Given the description of an element on the screen output the (x, y) to click on. 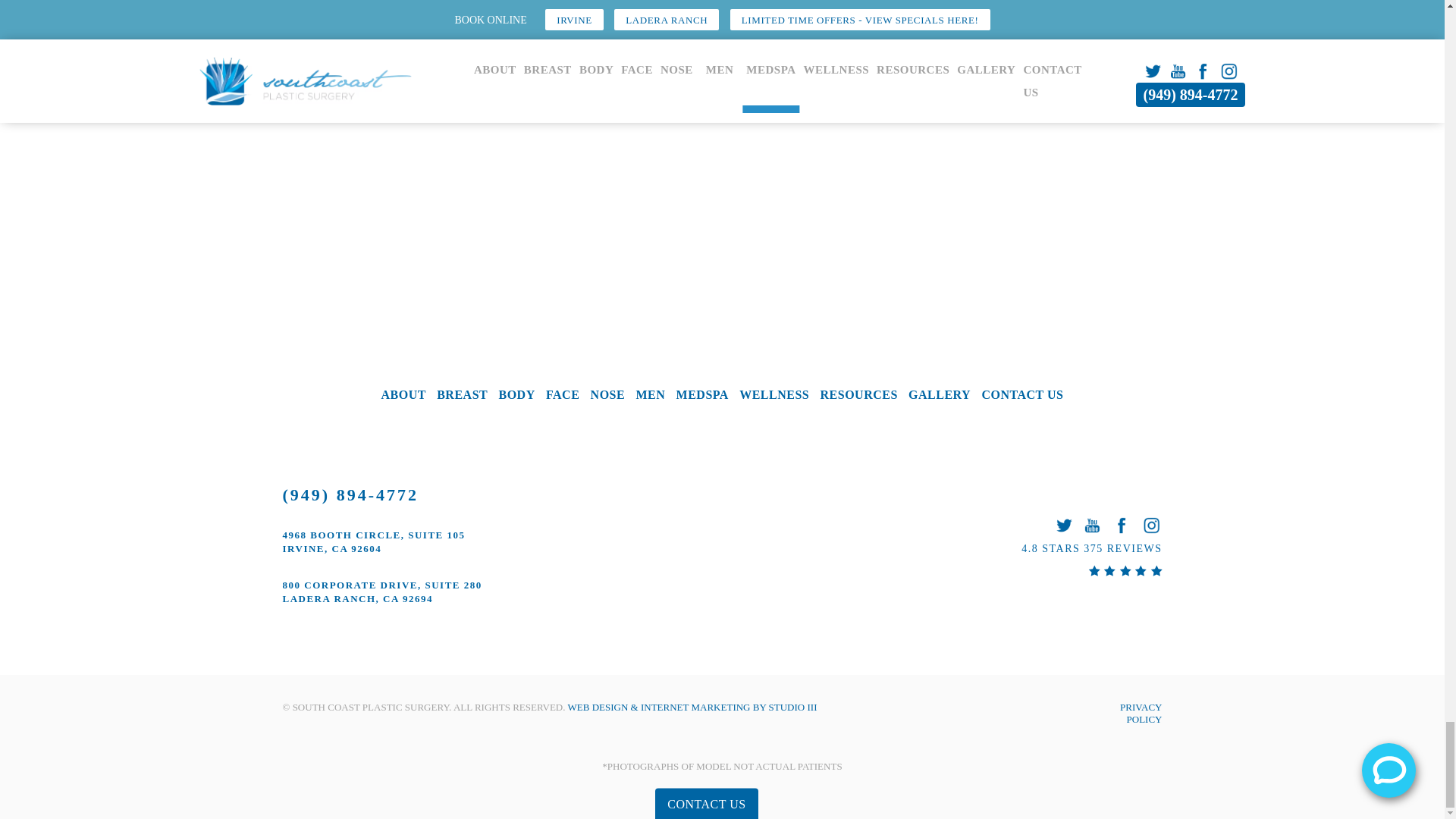
South Coast Plastic Surgery on Instagram (1150, 525)
South Coast Plastic Surgery on Youtube (1092, 525)
South Coast Plastic Surgery on Facebook (1121, 525)
South Coast Plastic Surgery on Twitter (1063, 525)
